Given the description of an element on the screen output the (x, y) to click on. 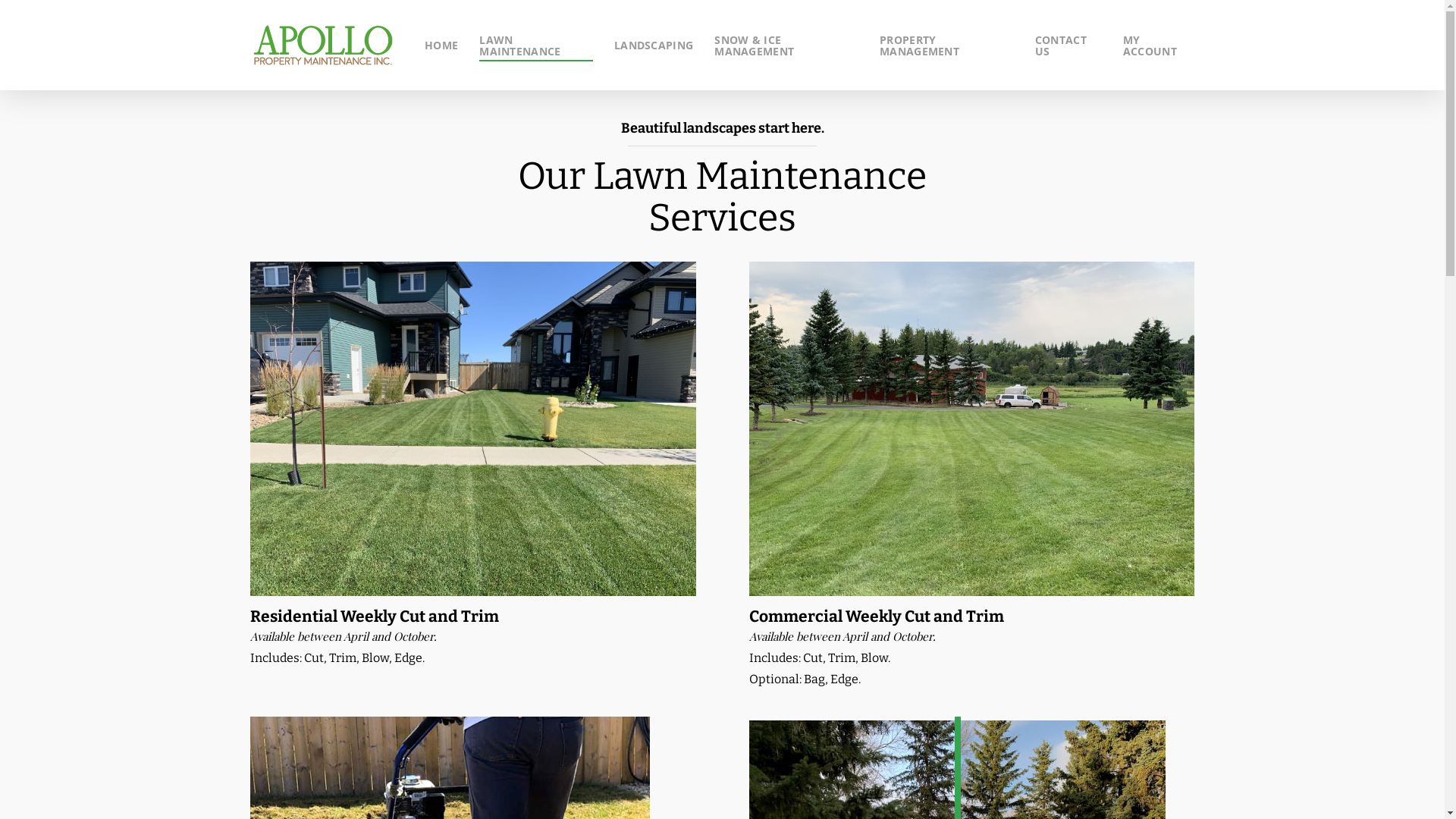
PROPERTY MANAGEMENT Element type: text (946, 44)
LAWN MAINTENANCE Element type: text (536, 44)
SNOW & ICE MANAGEMENT Element type: text (786, 44)
MY ACCOUNT Element type: text (1158, 44)
LANDSCAPING Element type: text (653, 44)
CONTACT US Element type: text (1068, 44)
HOME Element type: text (441, 44)
